Given the description of an element on the screen output the (x, y) to click on. 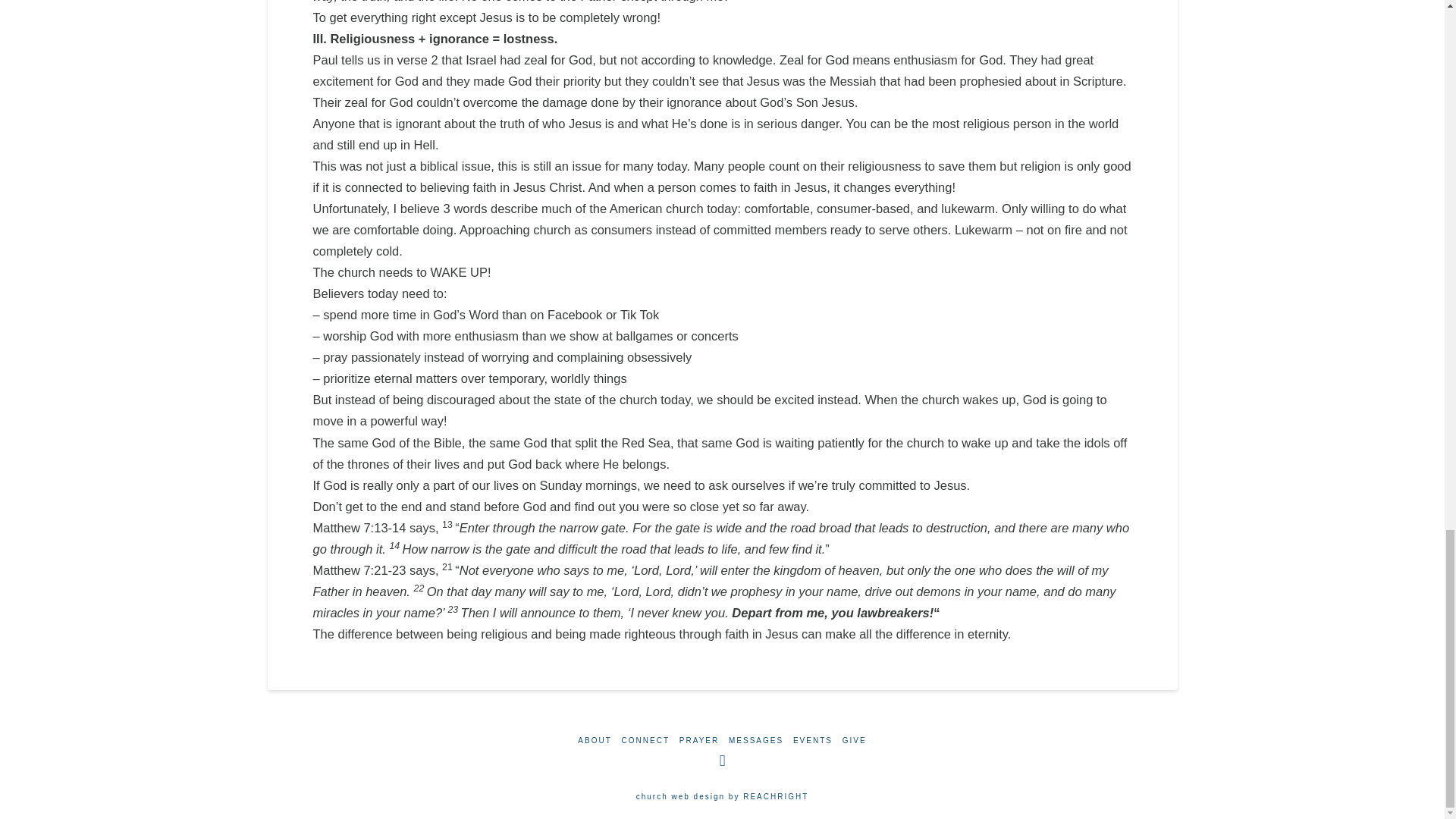
church web design by REACHRIGHT (722, 796)
ABOUT (594, 740)
CONNECT (645, 740)
MESSAGES (756, 740)
church web design by REACHRIGHT (722, 796)
GIVE (854, 740)
PRAYER (699, 740)
EVENTS (812, 740)
